Given the description of an element on the screen output the (x, y) to click on. 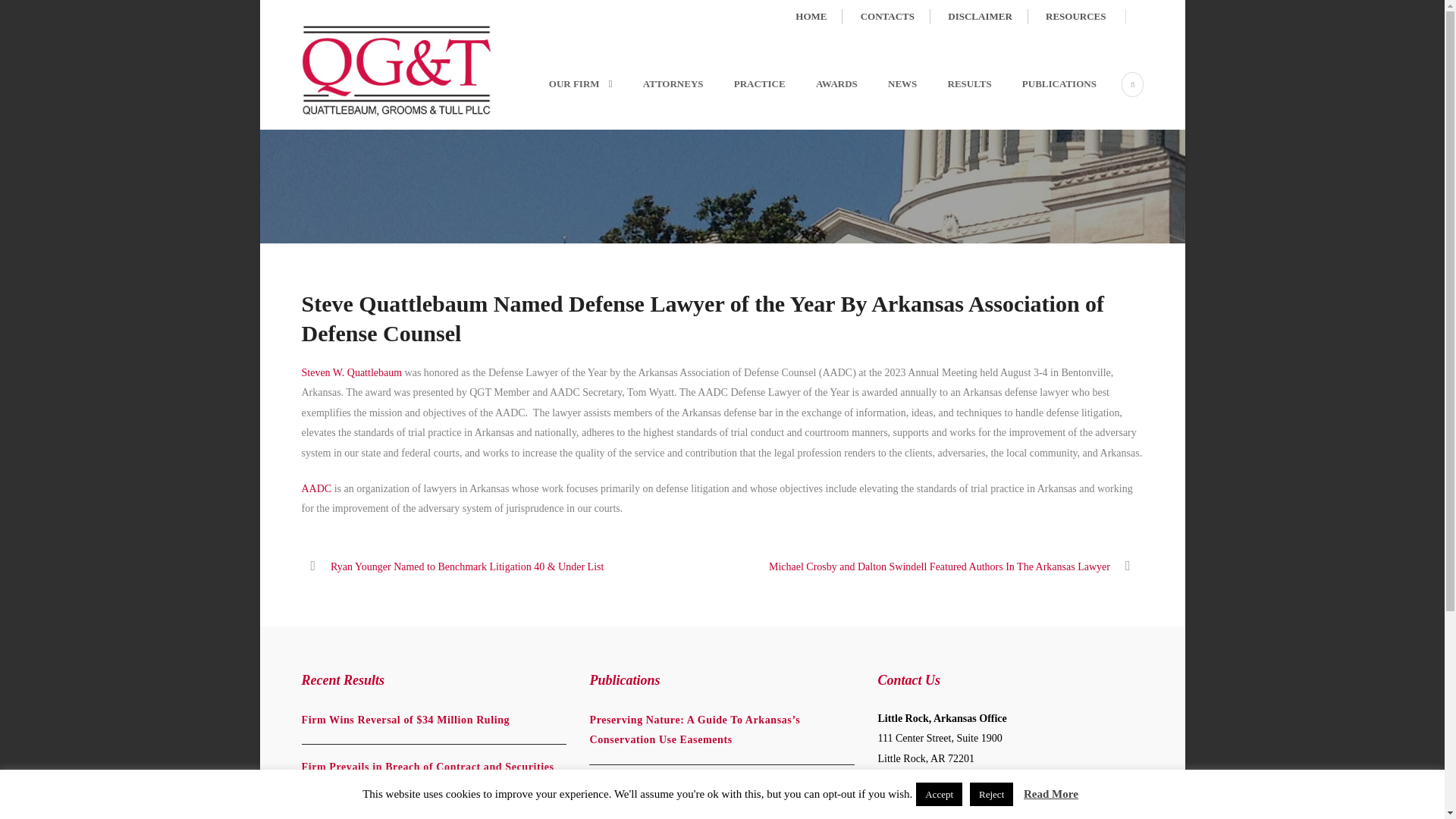
AADC (316, 488)
RESULTS (954, 102)
PRACTICE (744, 102)
OUR FIRM (576, 102)
HOME (818, 16)
NEWS (887, 102)
DISCLAIMER (987, 16)
RESOURCES (1075, 16)
Steven W. Quattlebaum (352, 372)
AWARDS (821, 102)
ATTORNEYS (657, 102)
CONTACTS (895, 16)
PUBLICATIONS (1043, 102)
